Given the description of an element on the screen output the (x, y) to click on. 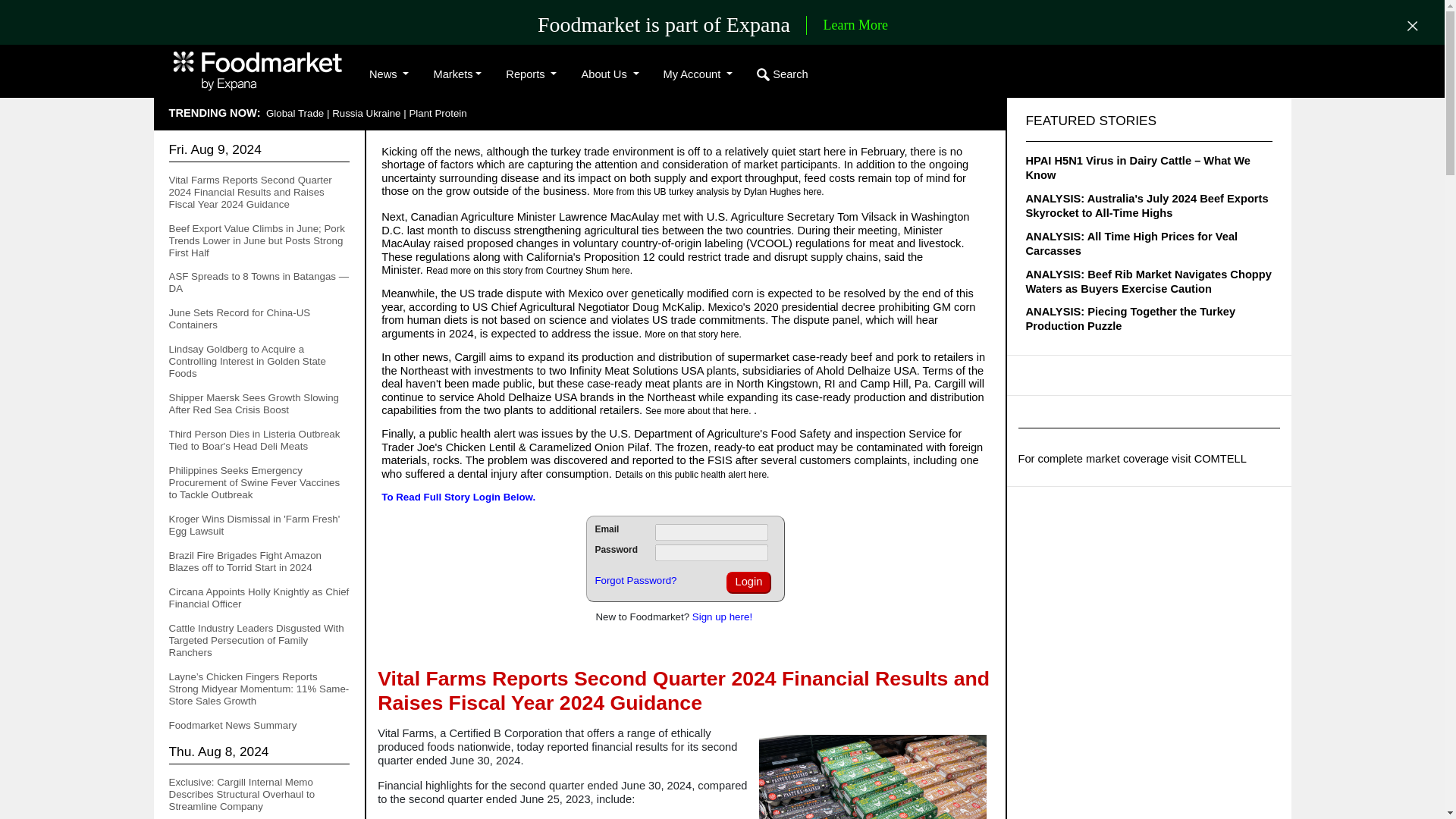
Russia Ukraine (365, 112)
Reports (531, 74)
My Account (697, 74)
News (388, 74)
Global Trade (294, 112)
Markets (456, 74)
Plant Protein (437, 112)
Learn More (856, 25)
